Given the description of an element on the screen output the (x, y) to click on. 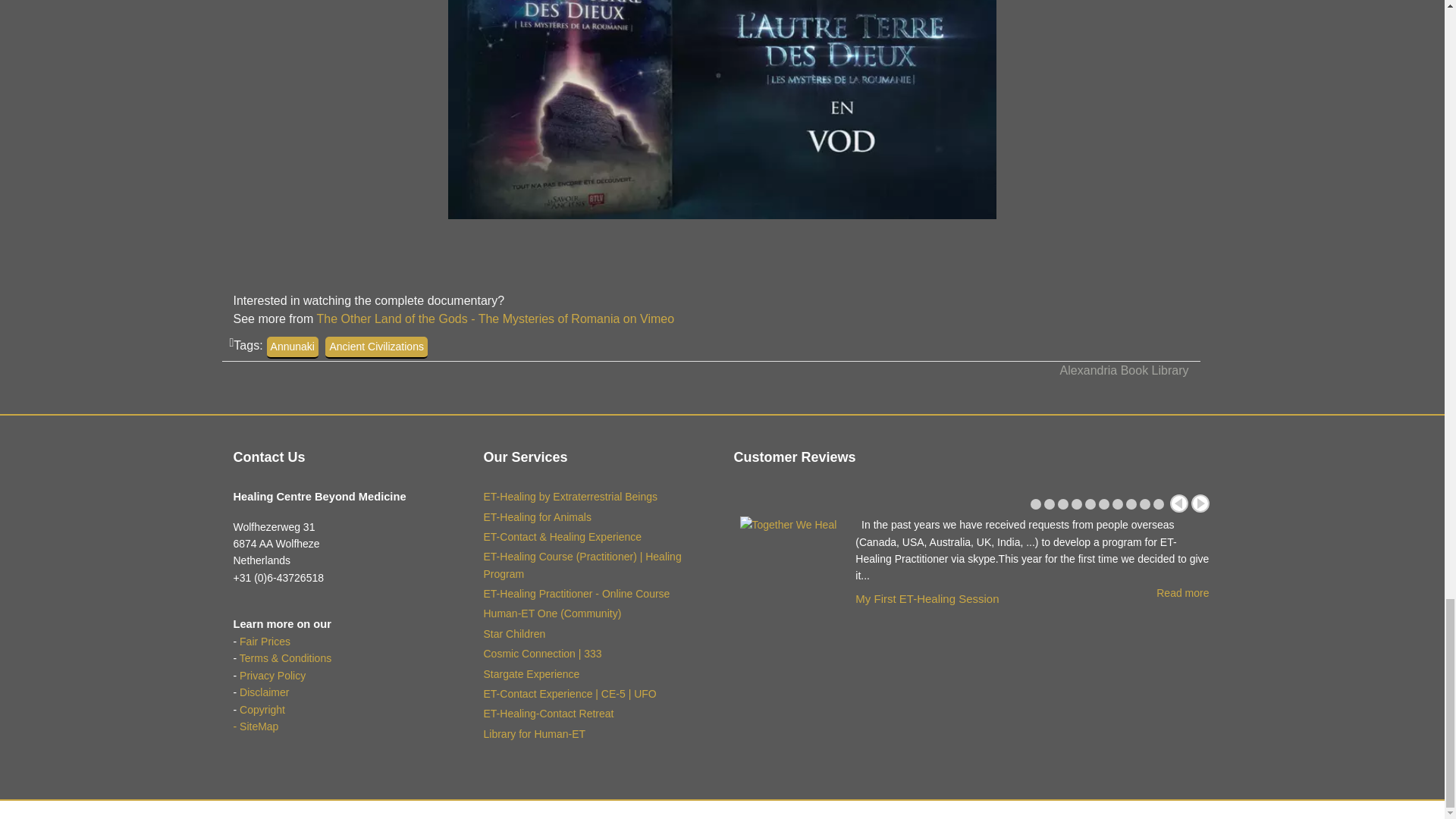
My First ET-Healing Session (927, 598)
PRIVACY POLICY BEYOND MEDICINE (272, 675)
FAIR PRICES BEYOND MEDICINE (264, 641)
COPYRIGHT BEYOND MEDICINE (262, 709)
- SiteMap (255, 726)
DISCLAIMER BEYOND MEDICINE (264, 692)
